Given the description of an element on the screen output the (x, y) to click on. 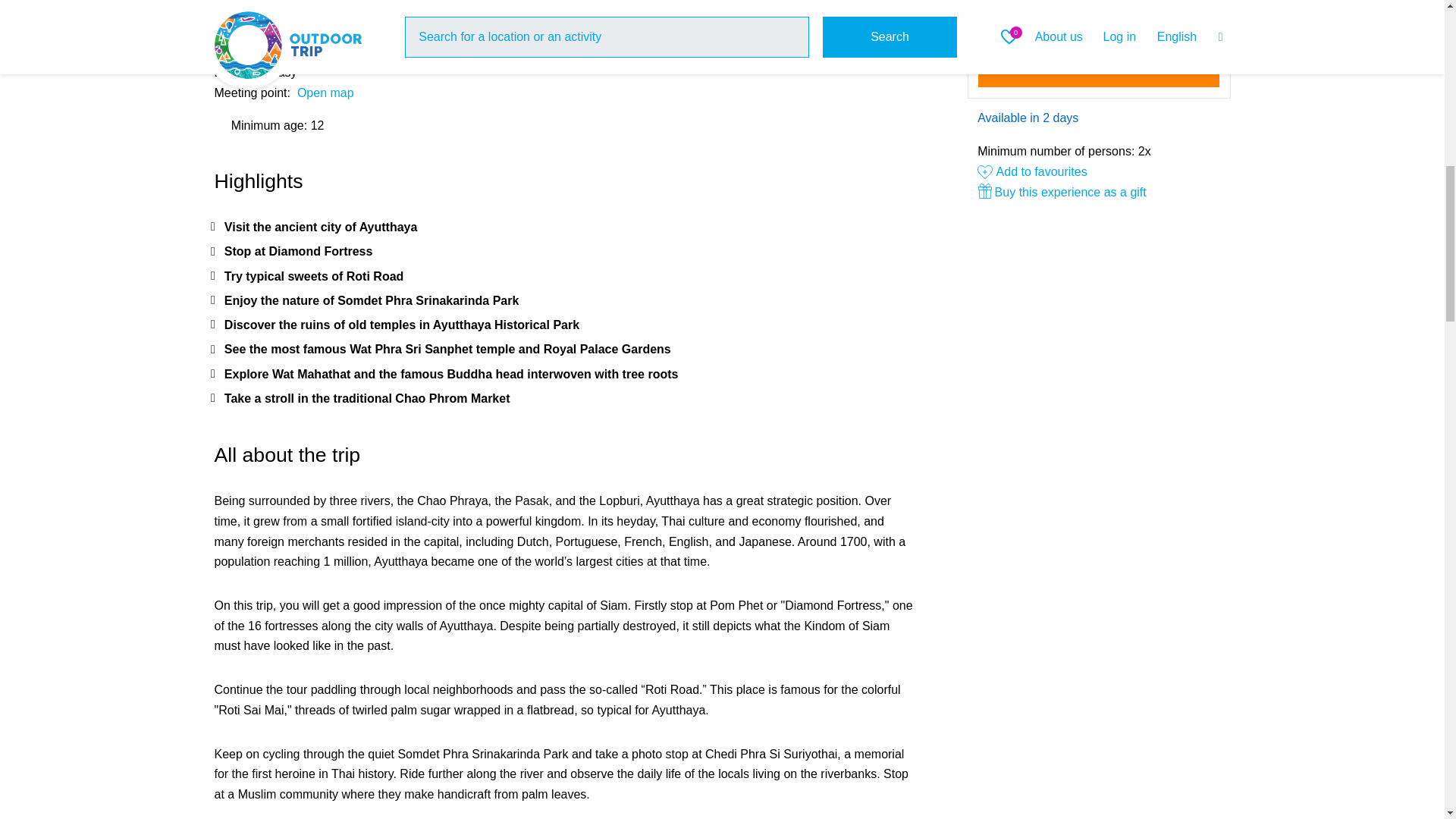
Buy this experience as a gift (1098, 192)
Date and time (1099, 18)
Add to favourites (1031, 172)
Open map (325, 92)
Continue (1099, 66)
Cycling (282, 11)
